Given the description of an element on the screen output the (x, y) to click on. 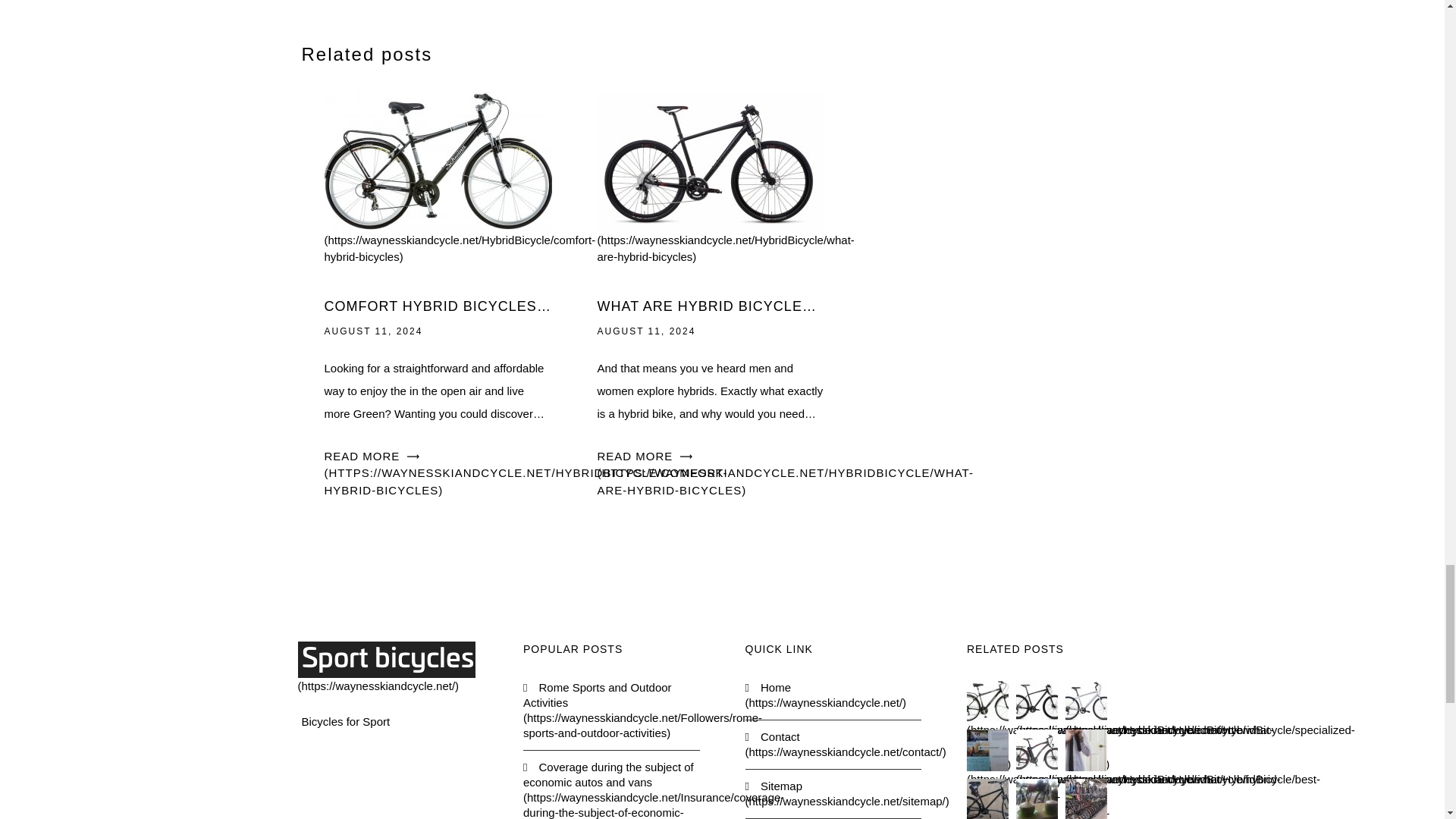
COMFORT HYBRID BICYCLES (437, 306)
What are Hybrid Bicycles? (725, 208)
Comfort Hybrid bicycles (459, 208)
READ MORE (785, 472)
READ MORE (526, 472)
WHAT ARE HYBRID BICYCLES? (710, 306)
